Given the description of an element on the screen output the (x, y) to click on. 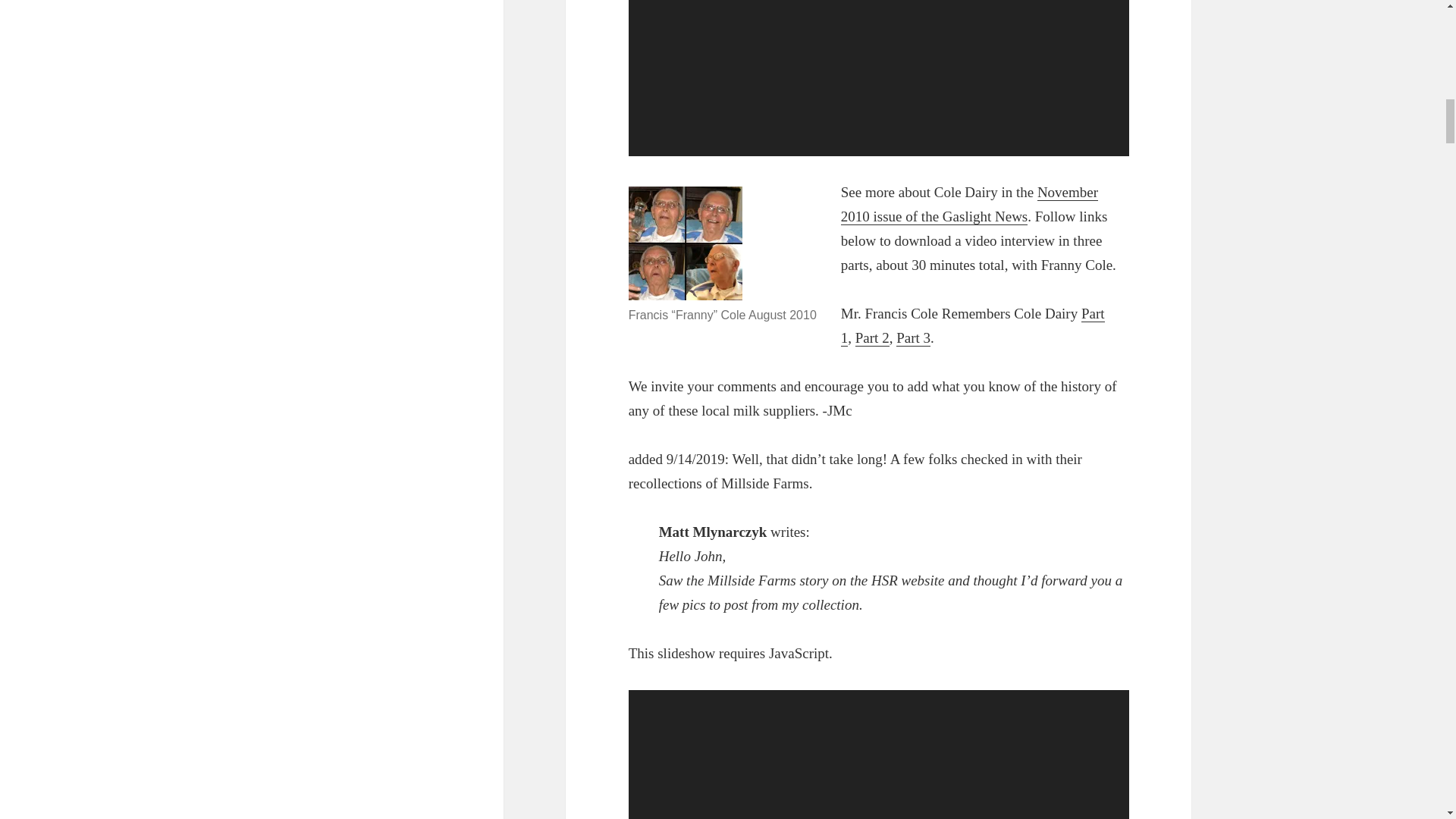
November 2010 issue of the Gaslight News (969, 204)
Part 1 (973, 325)
Part 3 (913, 338)
Part 2 (872, 338)
OLYMPUS DIGITAL CAMERA (685, 243)
